Given the description of an element on the screen output the (x, y) to click on. 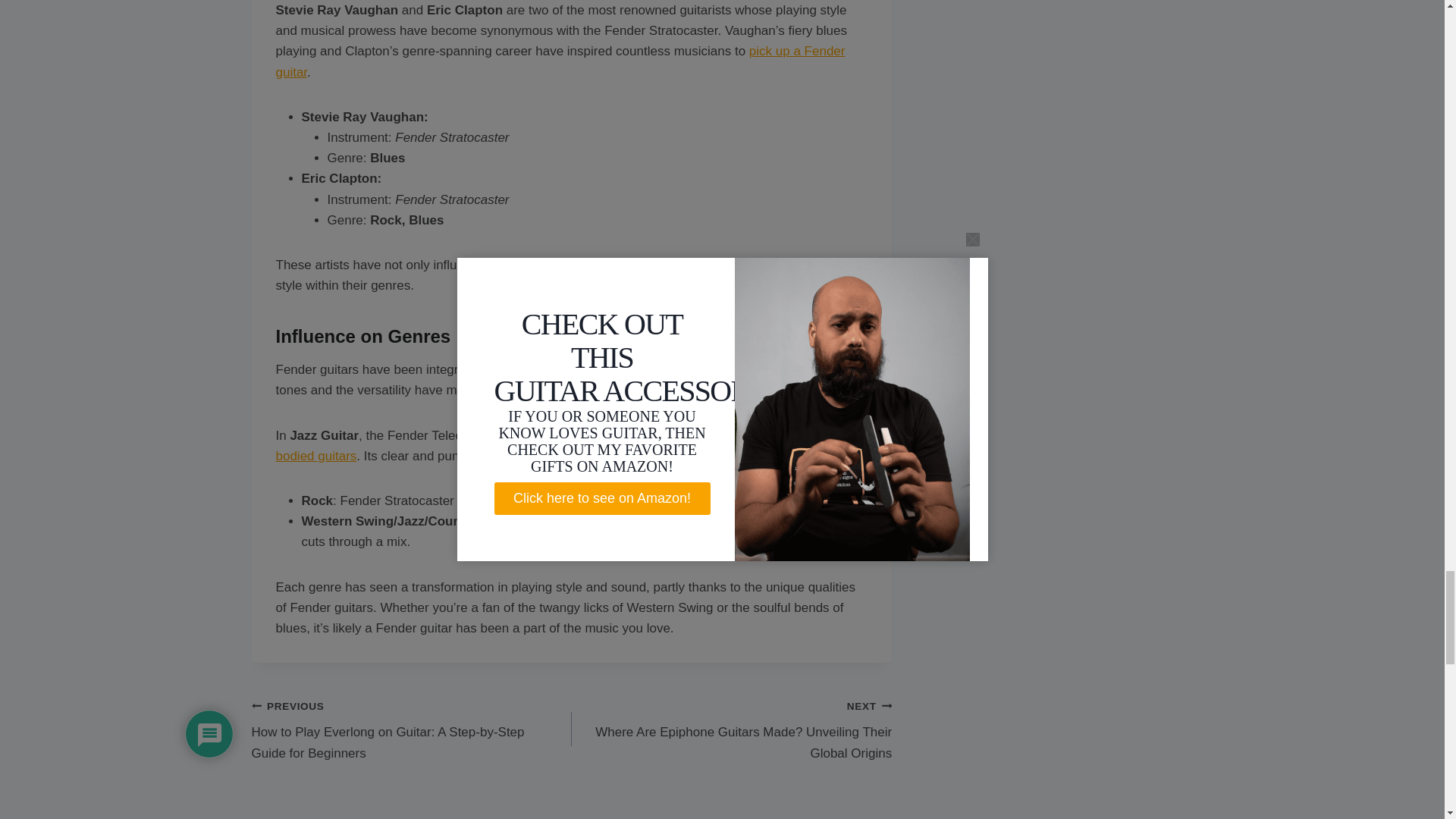
pick up a Fender guitar (560, 61)
mark despite the dominance of hollow-bodied guitars (553, 445)
